Given the description of an element on the screen output the (x, y) to click on. 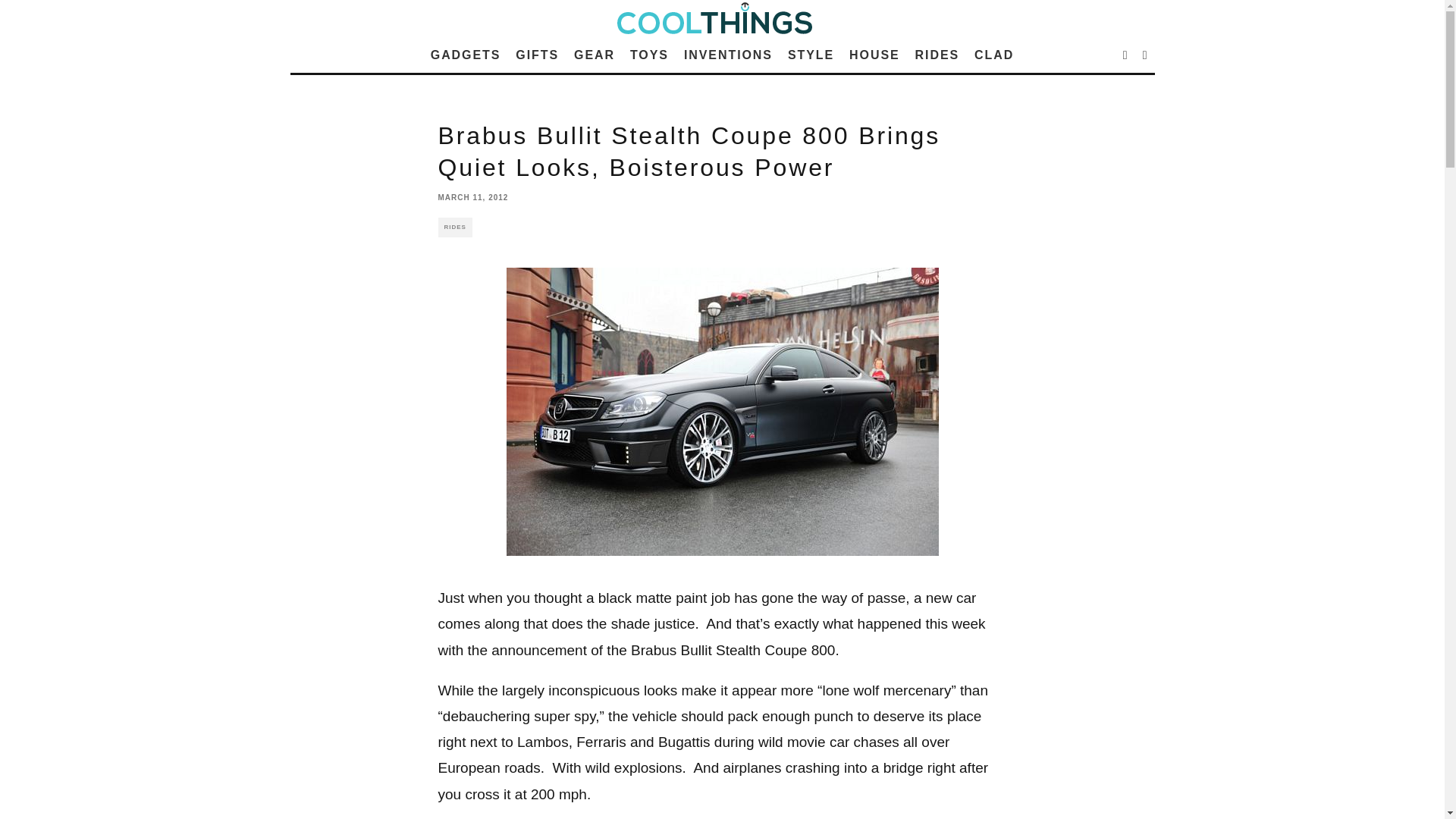
TOYS (650, 54)
GADGETS (465, 54)
GIFTS (537, 54)
STYLE (810, 54)
GEAR (594, 54)
INVENTIONS (728, 54)
